Given the description of an element on the screen output the (x, y) to click on. 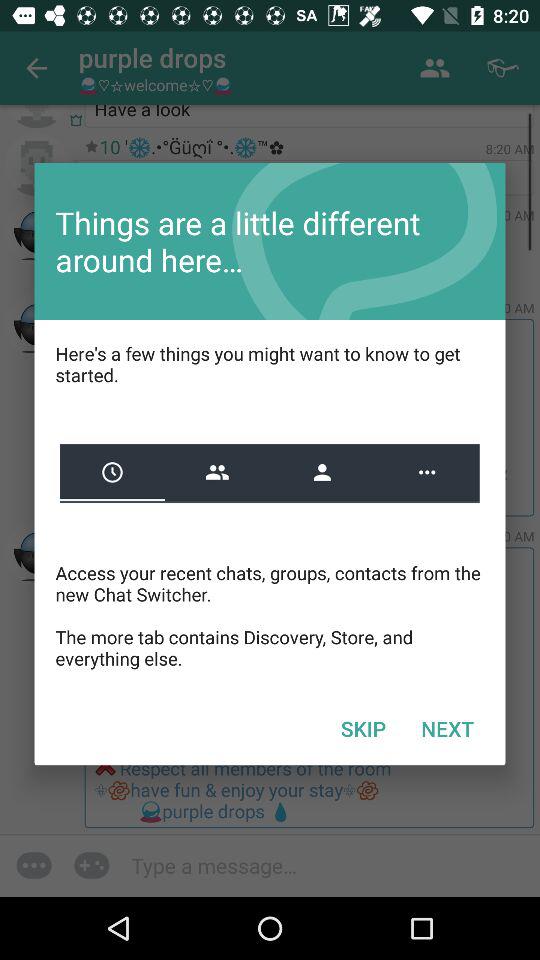
turn on next item (447, 728)
